Given the description of an element on the screen output the (x, y) to click on. 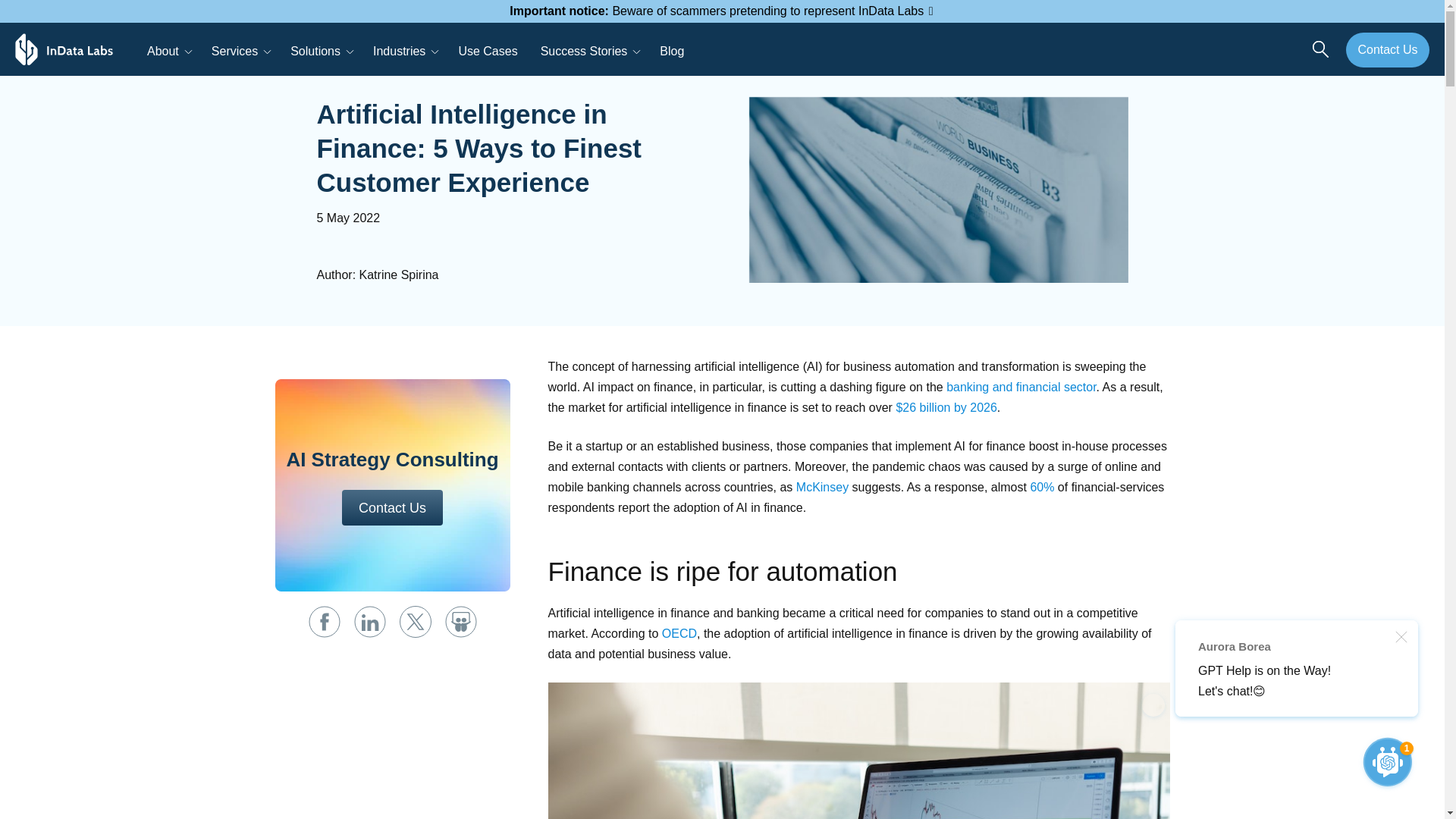
Services (239, 49)
About (167, 49)
